Given the description of an element on the screen output the (x, y) to click on. 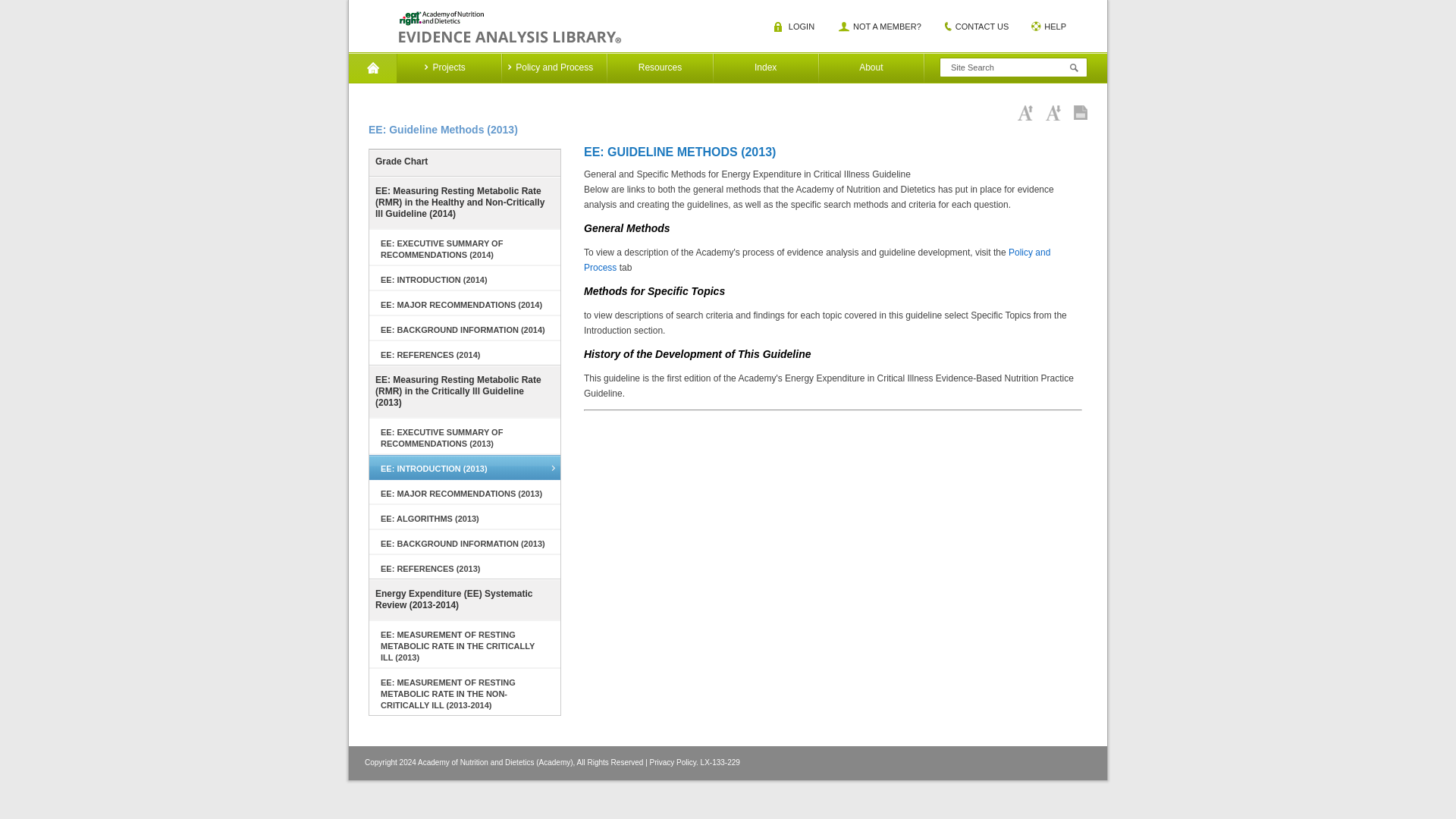
Projects (448, 68)
Decrease Font Size (1053, 112)
Home (372, 68)
academy of nutrition and dietetics (509, 27)
View as PDF (1080, 112)
Increase Font Size (1024, 112)
Policy and Process (554, 68)
